Given the description of an element on the screen output the (x, y) to click on. 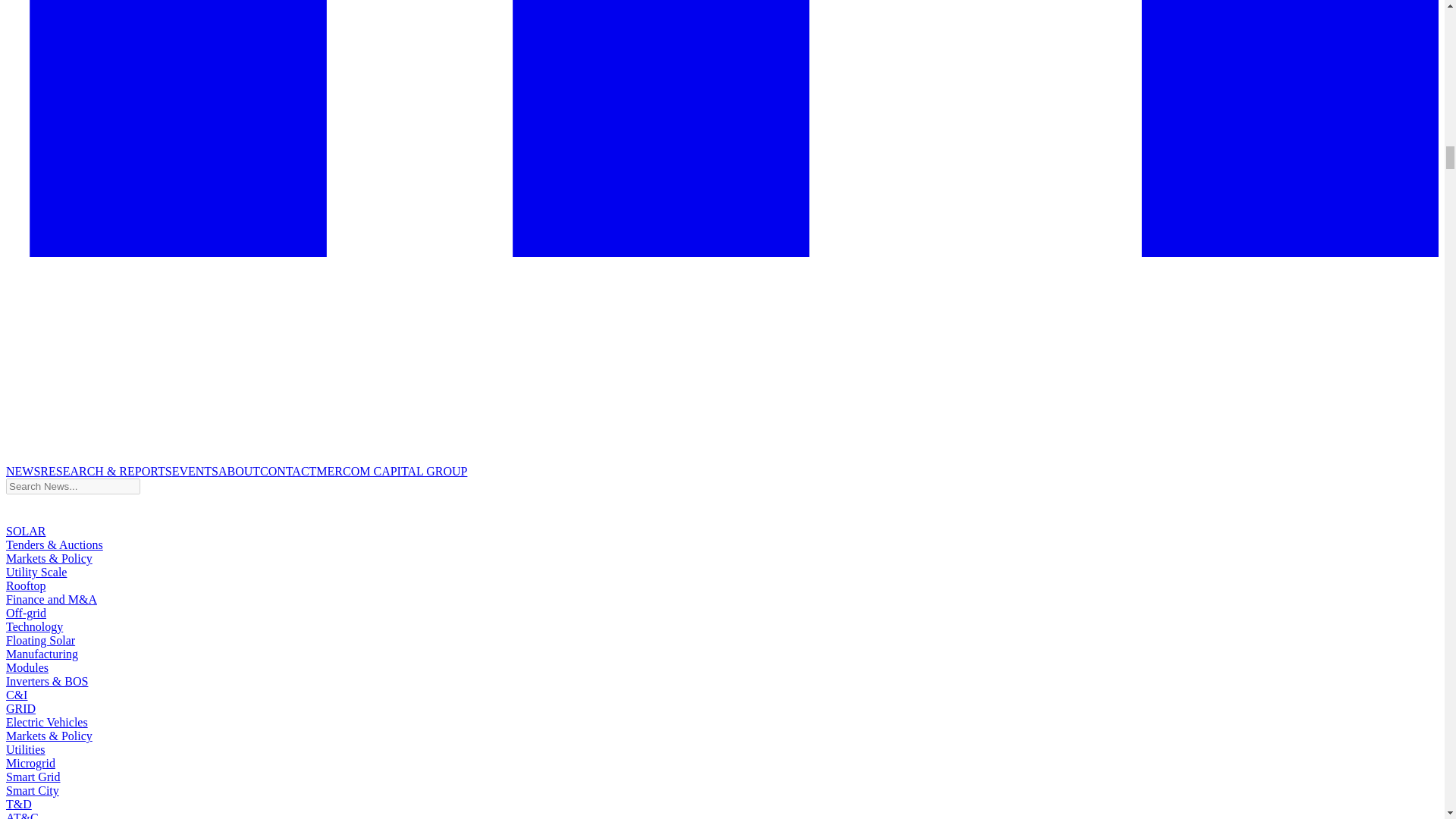
Modules (26, 667)
Utilities (25, 748)
Smart City (32, 789)
Manufacturing (41, 653)
ABOUT (239, 471)
SOLAR (25, 530)
MERCOM CAPITAL GROUP (391, 471)
Microgrid (30, 762)
Technology (33, 626)
CONTACT (287, 471)
